Given the description of an element on the screen output the (x, y) to click on. 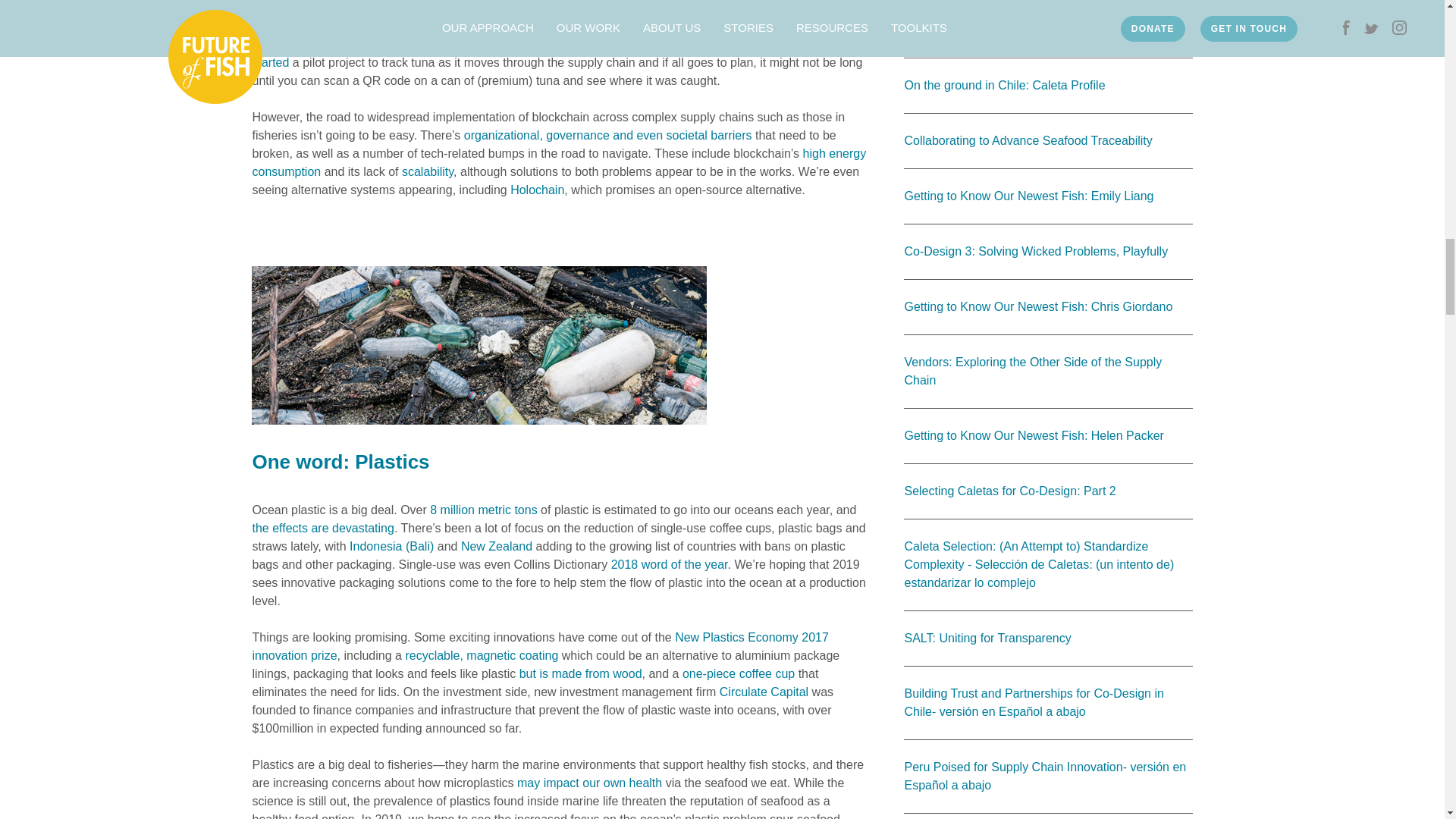
such as FishCoin (363, 43)
New Zealand (496, 545)
the effects are devastating (322, 527)
Holochain (537, 189)
game-changing transparency (680, 7)
WWF has already started (557, 52)
high energy consumption (558, 162)
8 million metric tons (483, 509)
scalability (426, 171)
blockchain (525, 7)
